Given the description of an element on the screen output the (x, y) to click on. 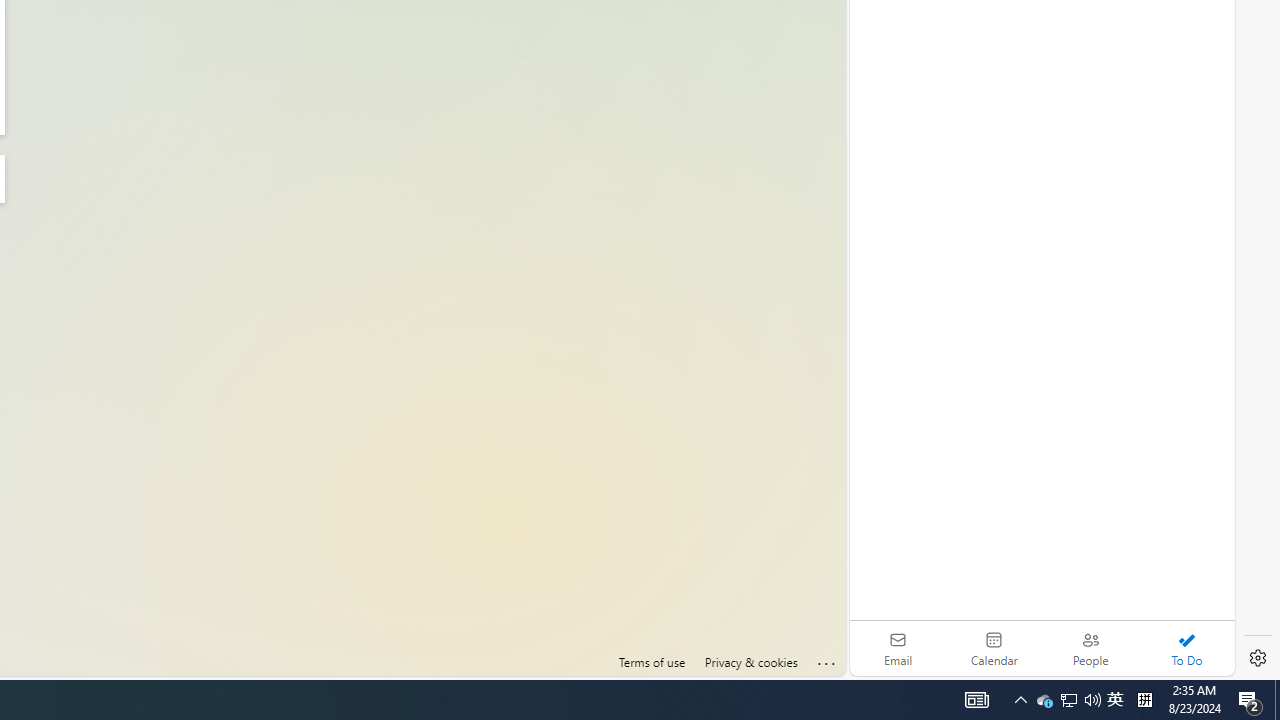
People (1090, 648)
Email (898, 648)
To Do (1186, 648)
Privacy & cookies (750, 662)
Calendar. Date today is 22 (994, 648)
Click here for troubleshooting information (827, 659)
